Given the description of an element on the screen output the (x, y) to click on. 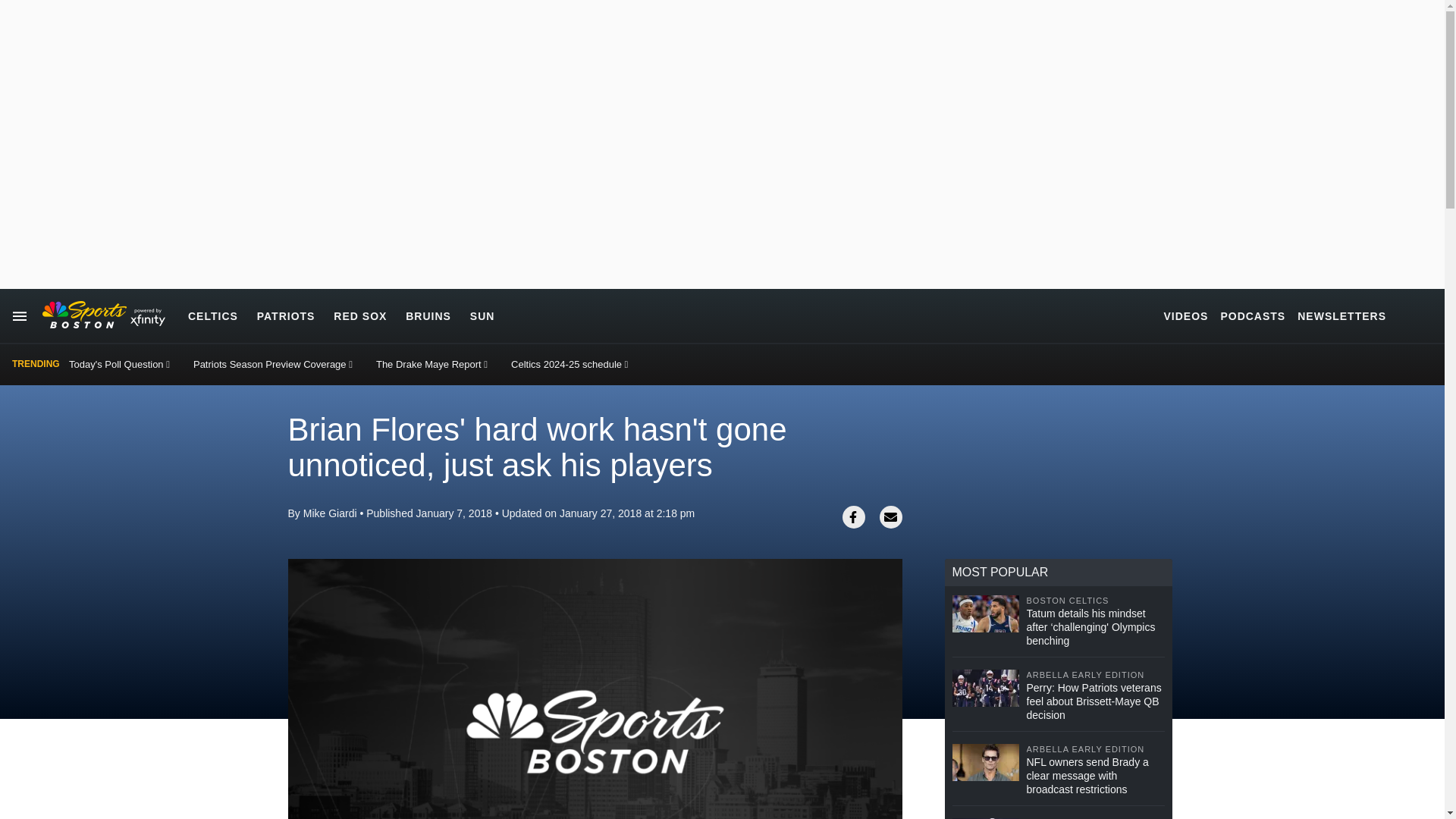
ARBELLA EARLY EDITION (1095, 749)
BRUINS (428, 315)
RED SOX (360, 315)
PODCASTS (1252, 315)
VIDEOS (1185, 315)
NEWSLETTERS (1341, 315)
PATRIOTS (286, 315)
SUN (482, 315)
